Given the description of an element on the screen output the (x, y) to click on. 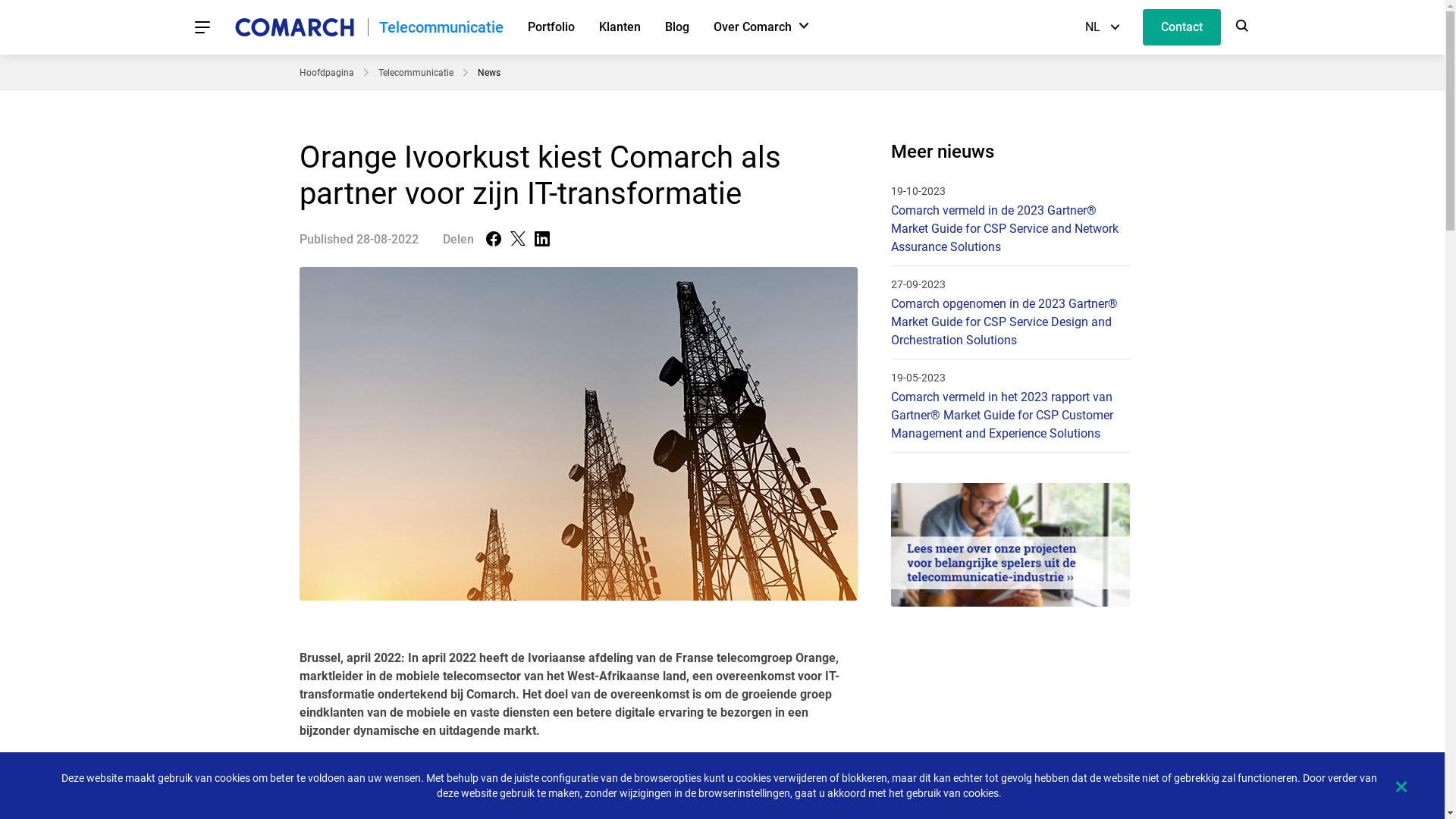
Share on LinkedIn Element type: hover (541, 239)
Share on Facebook Element type: hover (492, 239)
Hoofdpagina Element type: text (325, 72)
Contact Element type: text (1181, 27)
NL Element type: text (1100, 27)
COMARCH Element type: text (293, 27)
Blog Element type: text (676, 27)
Telecommunicatie Element type: text (414, 72)
Portfolio Element type: text (550, 27)
Klanten Element type: text (619, 27)
Telecommunicatie Element type: text (441, 27)
News Element type: text (488, 72)
Share on Twitter Element type: hover (516, 239)
Zoeken Element type: hover (1241, 26)
